Given the description of an element on the screen output the (x, y) to click on. 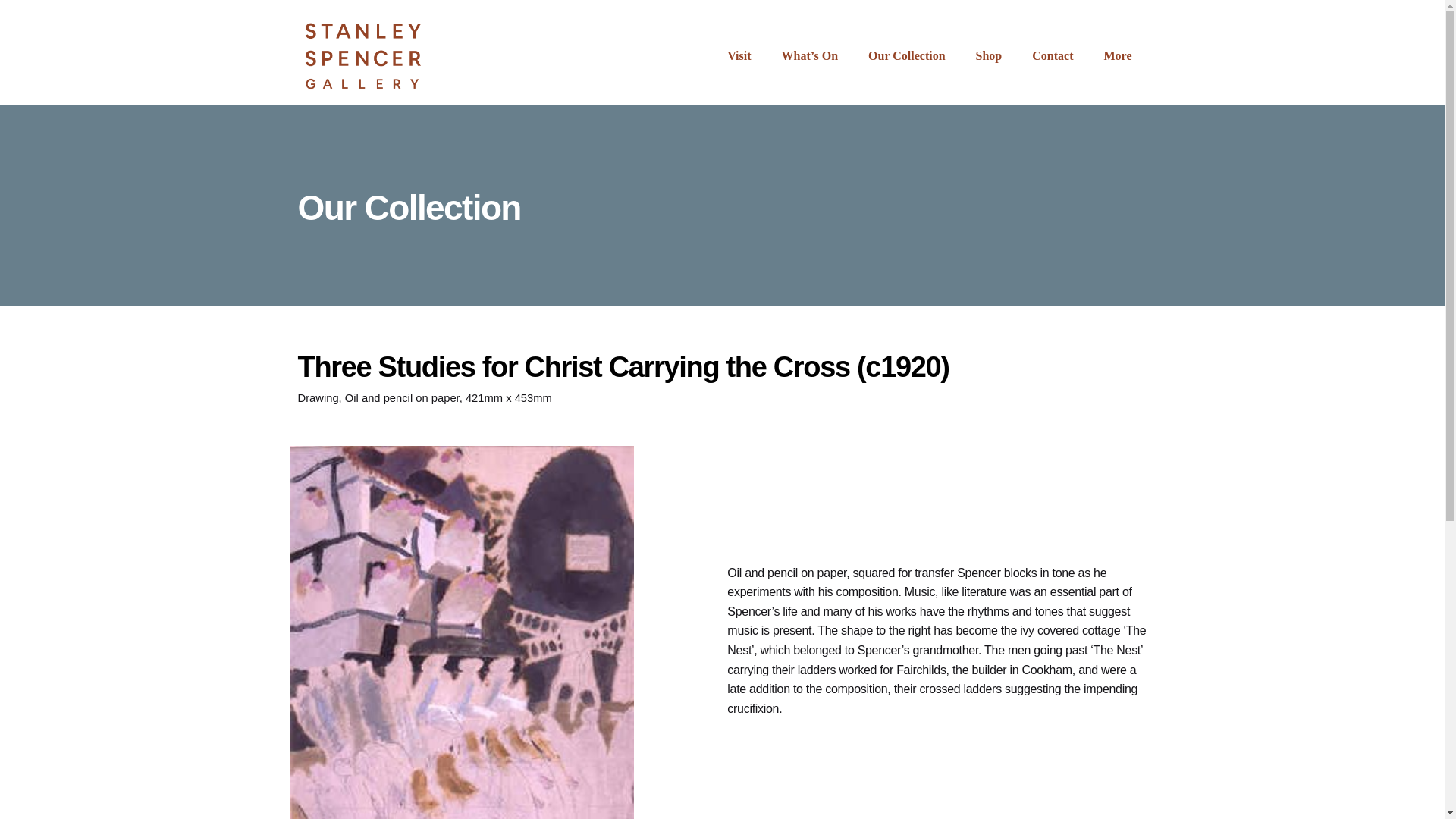
Our Collection (906, 55)
Contact (1051, 55)
Visit (738, 55)
More (1117, 55)
Shop (988, 55)
